Given the description of an element on the screen output the (x, y) to click on. 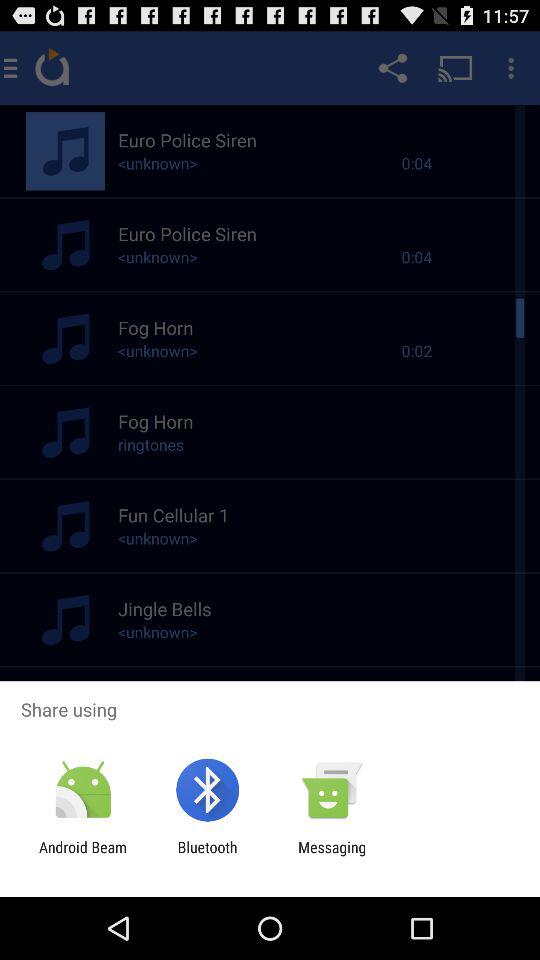
flip until the messaging (332, 856)
